Given the description of an element on the screen output the (x, y) to click on. 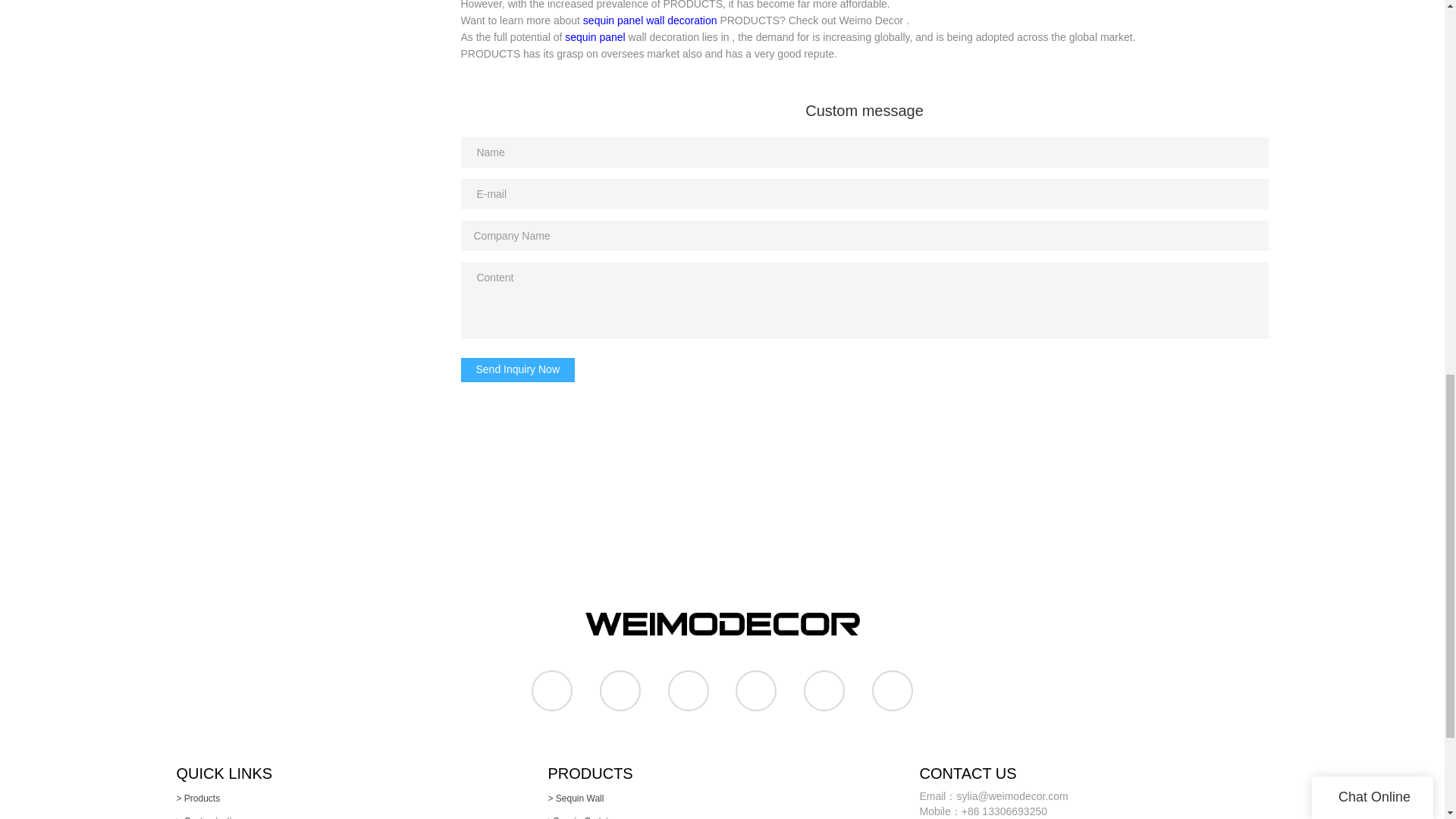
Send Inquiry Now (518, 369)
sequin panel wall decoration (650, 20)
sequin panel (594, 37)
